Given the description of an element on the screen output the (x, y) to click on. 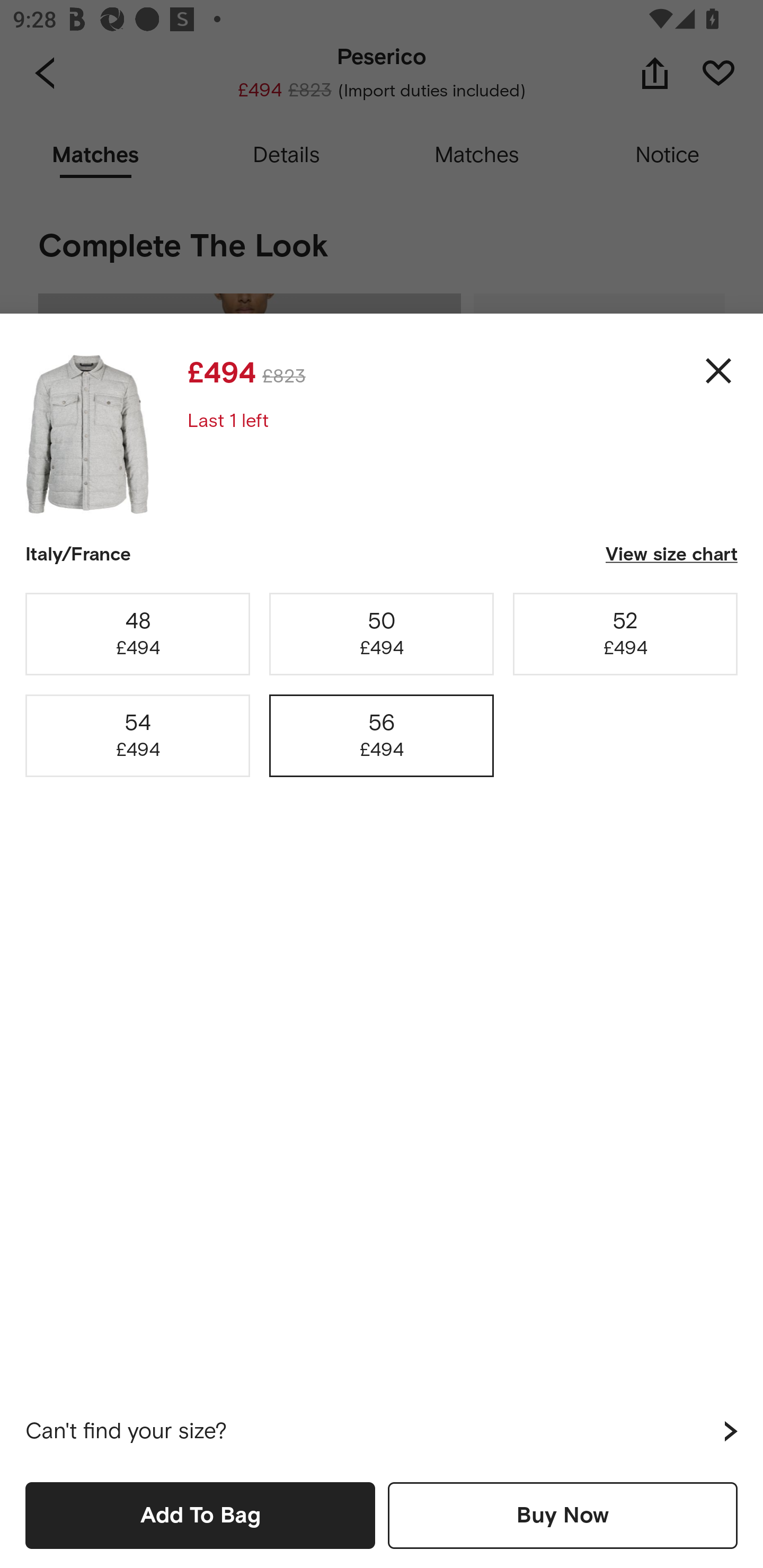
48 £494 (137, 633)
50 £494 (381, 633)
52 £494 (624, 633)
54 £494 (137, 735)
56 £494 (381, 735)
Can't find your size? (381, 1431)
Add To Bag (200, 1515)
Buy Now (562, 1515)
